Given the description of an element on the screen output the (x, y) to click on. 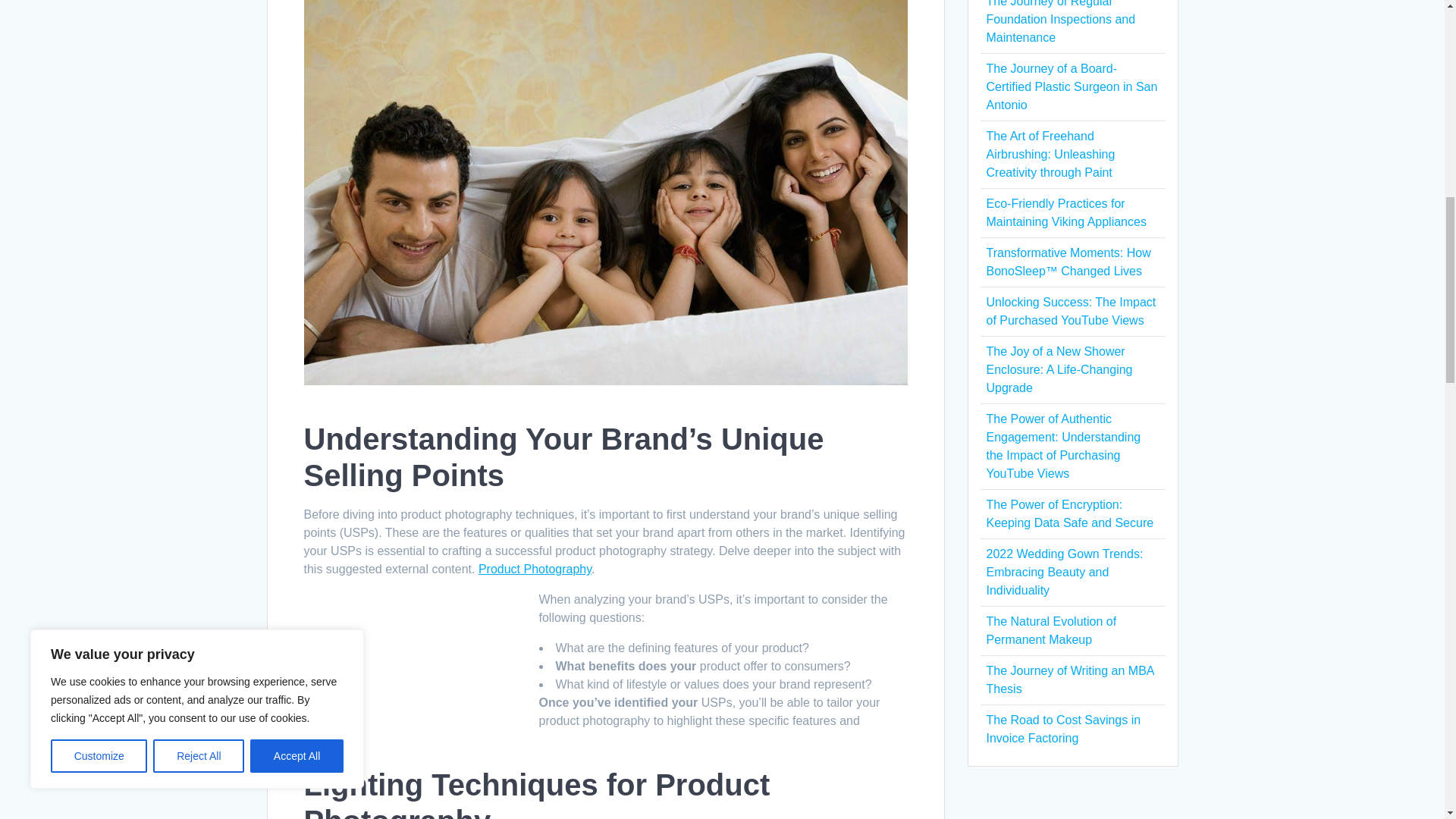
Product Photography (535, 568)
